Given the description of an element on the screen output the (x, y) to click on. 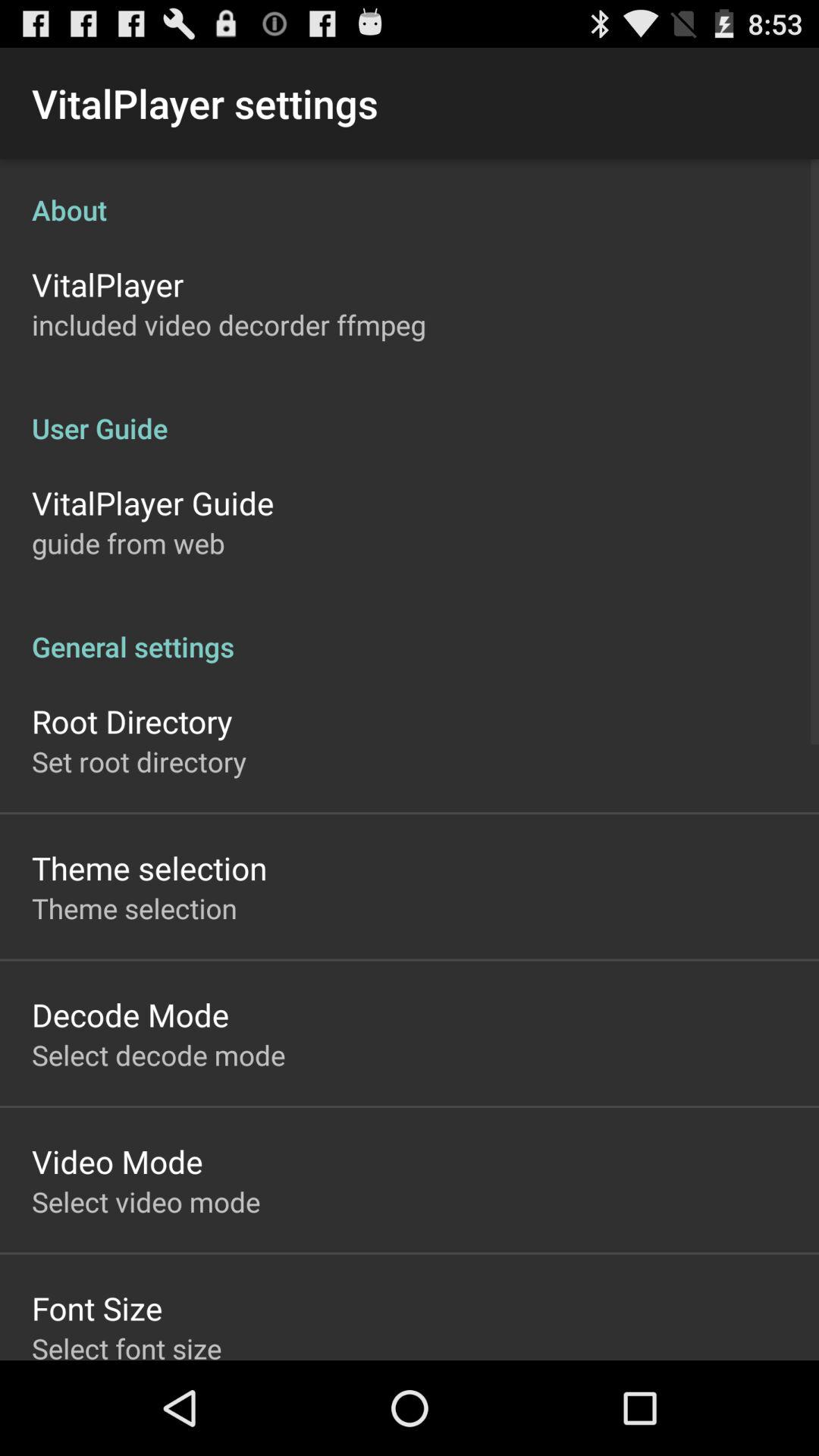
turn off the app below user guide item (152, 502)
